Given the description of an element on the screen output the (x, y) to click on. 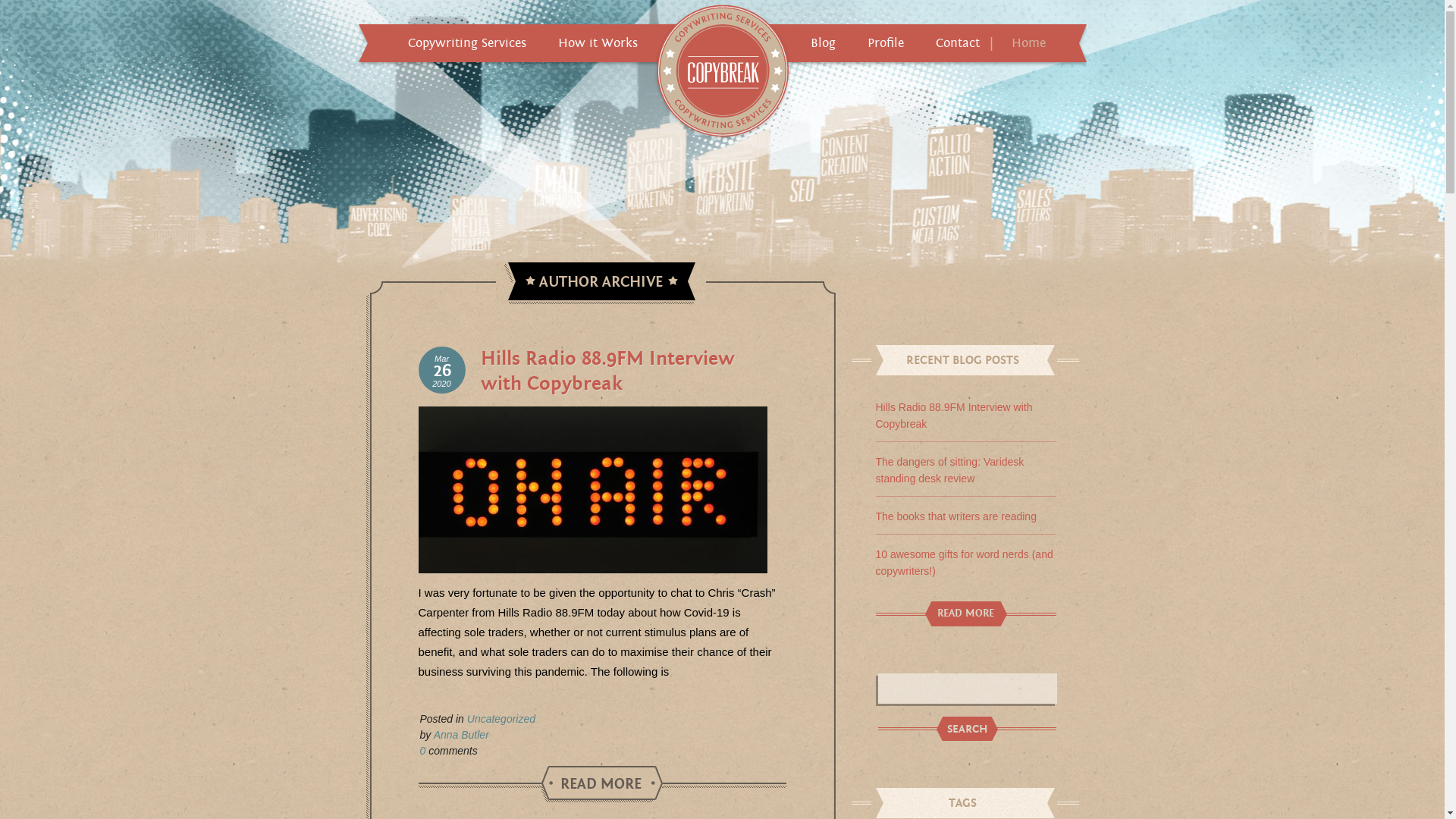
Home Element type: text (1028, 42)
Hills Radio 88.9FM Interview with Copybreak Element type: text (953, 415)
How it Works Element type: text (597, 42)
The books that writers are reading Element type: text (955, 516)
Profile Element type: text (885, 42)
Hills Radio 88.9FM Interview with Copybreak Element type: text (607, 371)
The dangers of sitting: Varidesk standing desk review Element type: text (949, 469)
Blog Element type: text (821, 42)
Contact Element type: text (957, 42)
0 Element type: text (423, 750)
Search Element type: text (966, 728)
Anna Butler Element type: text (461, 734)
Uncategorized Element type: text (501, 718)
Copywriting Services Element type: text (466, 42)
READ MORE Element type: text (965, 613)
10 awesome gifts for word nerds (and copywriters!) Element type: text (963, 562)
READ MORE Element type: text (601, 783)
Copybreak Copywriting Services Element type: text (722, 72)
